Given the description of an element on the screen output the (x, y) to click on. 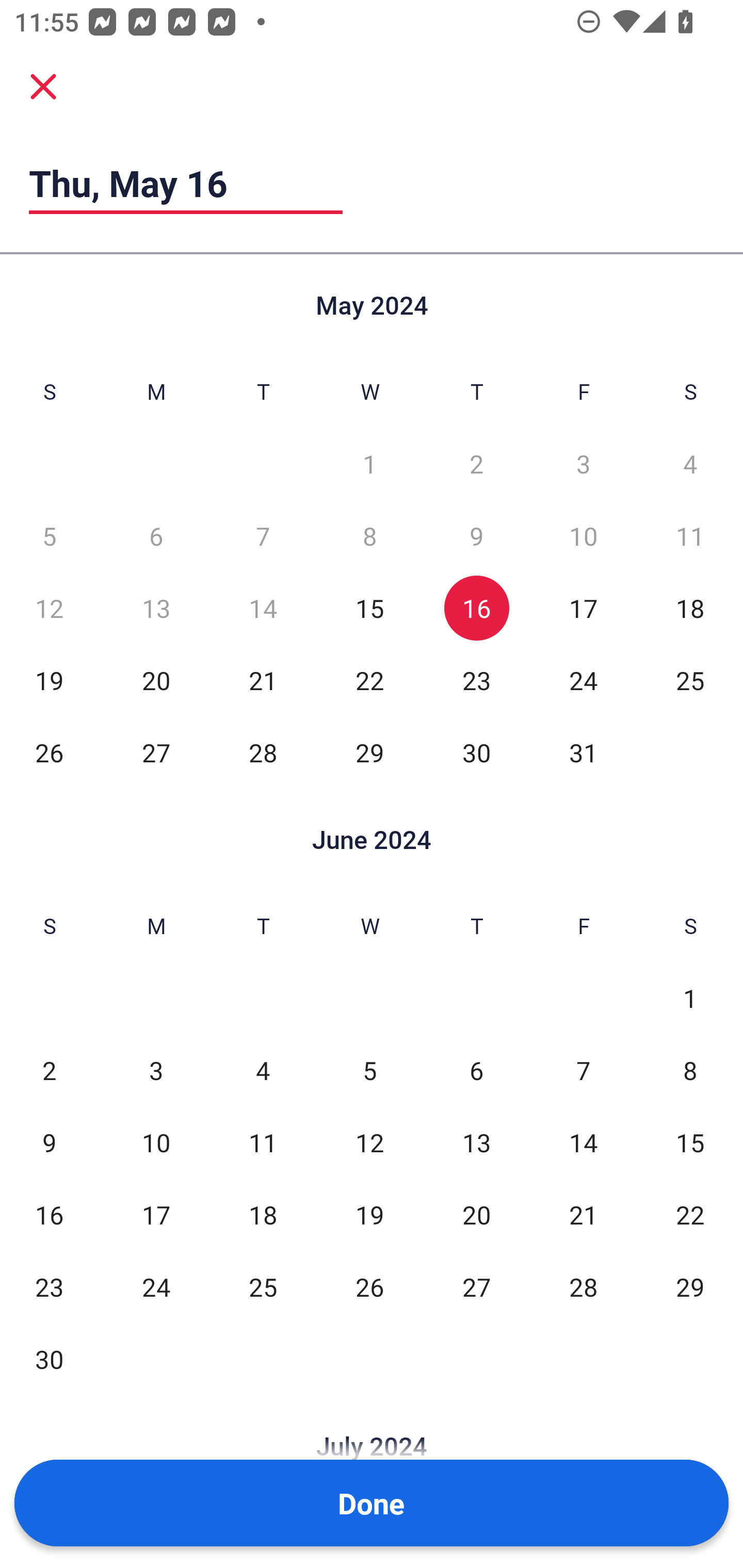
Cancel (43, 86)
Thu, May 16 (185, 182)
1 Wed, May 1, Not Selected (369, 464)
2 Thu, May 2, Not Selected (476, 464)
3 Fri, May 3, Not Selected (583, 464)
4 Sat, May 4, Not Selected (690, 464)
5 Sun, May 5, Not Selected (49, 536)
6 Mon, May 6, Not Selected (156, 536)
7 Tue, May 7, Not Selected (263, 536)
8 Wed, May 8, Not Selected (369, 536)
9 Thu, May 9, Not Selected (476, 536)
10 Fri, May 10, Not Selected (583, 536)
11 Sat, May 11, Not Selected (690, 536)
12 Sun, May 12, Not Selected (49, 608)
13 Mon, May 13, Not Selected (156, 608)
14 Tue, May 14, Not Selected (263, 608)
15 Wed, May 15, Not Selected (369, 608)
16 Thu, May 16, Selected (476, 608)
17 Fri, May 17, Not Selected (583, 608)
18 Sat, May 18, Not Selected (690, 608)
19 Sun, May 19, Not Selected (49, 680)
20 Mon, May 20, Not Selected (156, 680)
21 Tue, May 21, Not Selected (263, 680)
22 Wed, May 22, Not Selected (369, 680)
23 Thu, May 23, Not Selected (476, 680)
24 Fri, May 24, Not Selected (583, 680)
25 Sat, May 25, Not Selected (690, 680)
26 Sun, May 26, Not Selected (49, 752)
27 Mon, May 27, Not Selected (156, 752)
28 Tue, May 28, Not Selected (263, 752)
29 Wed, May 29, Not Selected (369, 752)
30 Thu, May 30, Not Selected (476, 752)
31 Fri, May 31, Not Selected (583, 752)
1 Sat, Jun 1, Not Selected (690, 997)
2 Sun, Jun 2, Not Selected (49, 1070)
3 Mon, Jun 3, Not Selected (156, 1070)
4 Tue, Jun 4, Not Selected (263, 1070)
5 Wed, Jun 5, Not Selected (369, 1070)
6 Thu, Jun 6, Not Selected (476, 1070)
7 Fri, Jun 7, Not Selected (583, 1070)
8 Sat, Jun 8, Not Selected (690, 1070)
9 Sun, Jun 9, Not Selected (49, 1143)
10 Mon, Jun 10, Not Selected (156, 1143)
11 Tue, Jun 11, Not Selected (263, 1143)
12 Wed, Jun 12, Not Selected (369, 1143)
13 Thu, Jun 13, Not Selected (476, 1143)
14 Fri, Jun 14, Not Selected (583, 1143)
15 Sat, Jun 15, Not Selected (690, 1143)
16 Sun, Jun 16, Not Selected (49, 1215)
17 Mon, Jun 17, Not Selected (156, 1215)
